Given the description of an element on the screen output the (x, y) to click on. 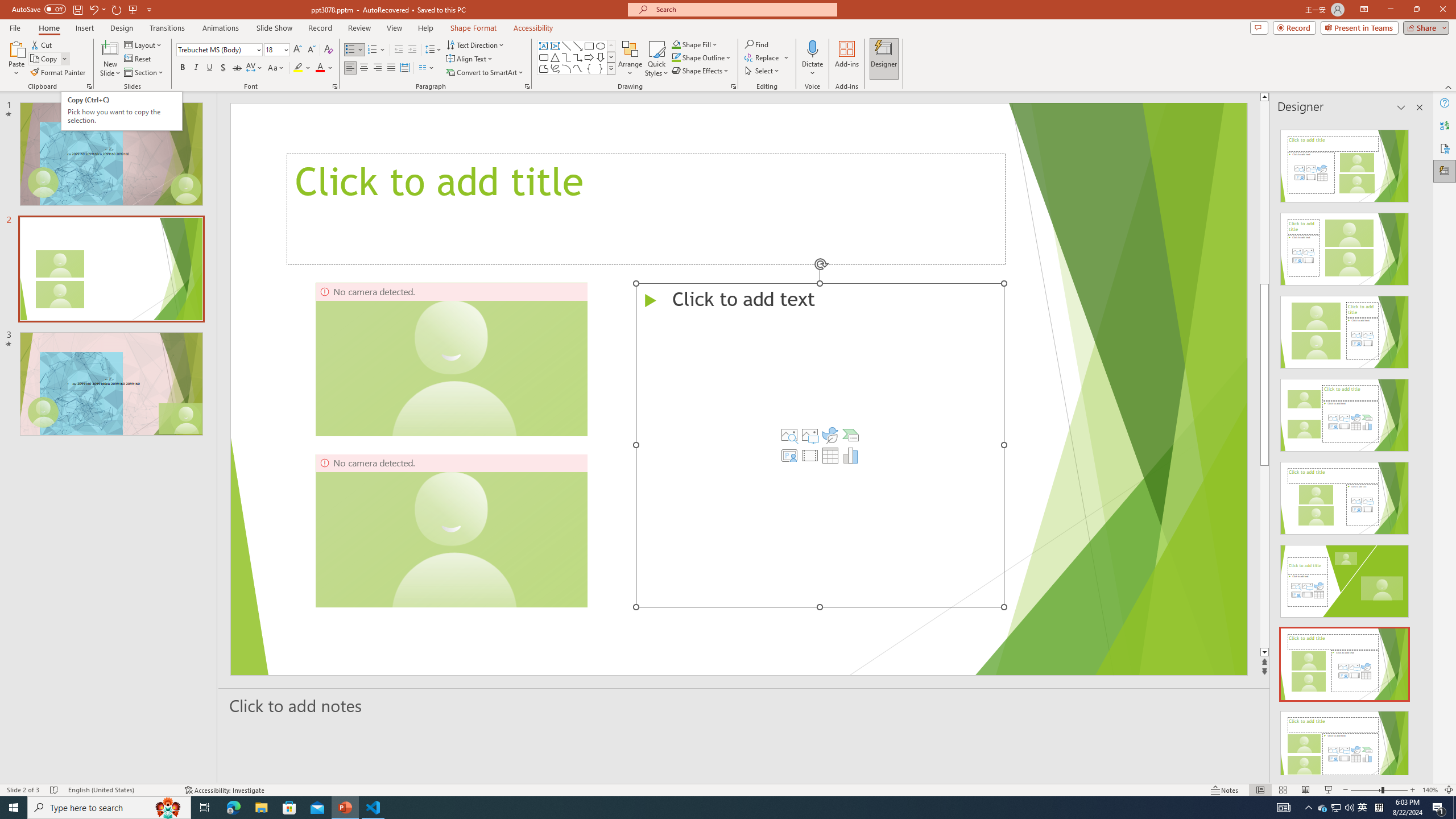
Insert Table (830, 455)
Shape Effects (700, 69)
